Given the description of an element on the screen output the (x, y) to click on. 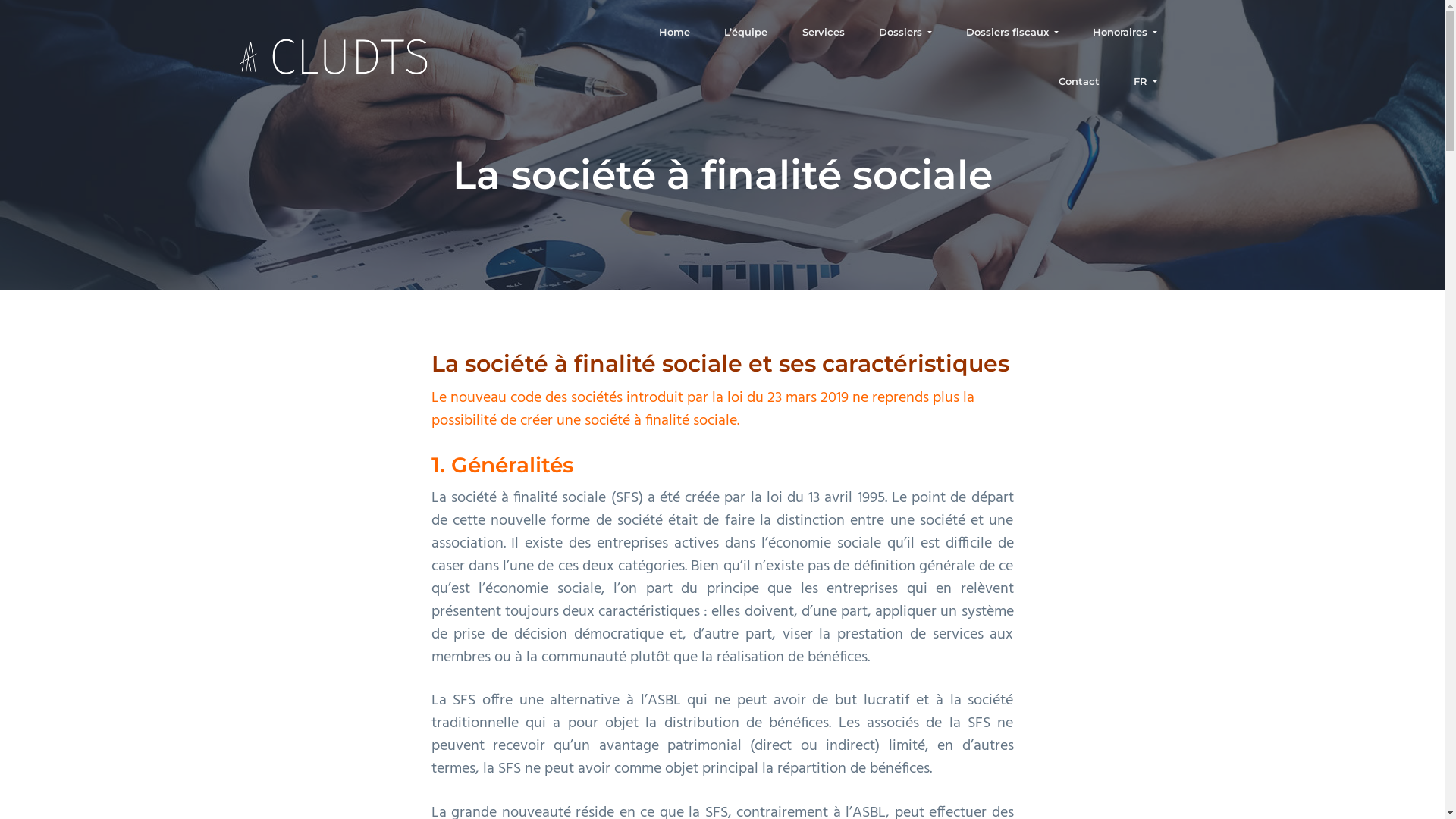
Honoraires Element type: text (1124, 31)
FR Element type: text (1145, 81)
Skip to primary navigation Element type: text (0, 0)
Dossiers Element type: text (905, 31)
Services Element type: text (823, 31)
Fiduciaire Cludts Element type: text (293, 81)
Home Element type: text (674, 31)
Contact Element type: text (1079, 81)
Dossiers fiscaux Element type: text (1011, 31)
